Given the description of an element on the screen output the (x, y) to click on. 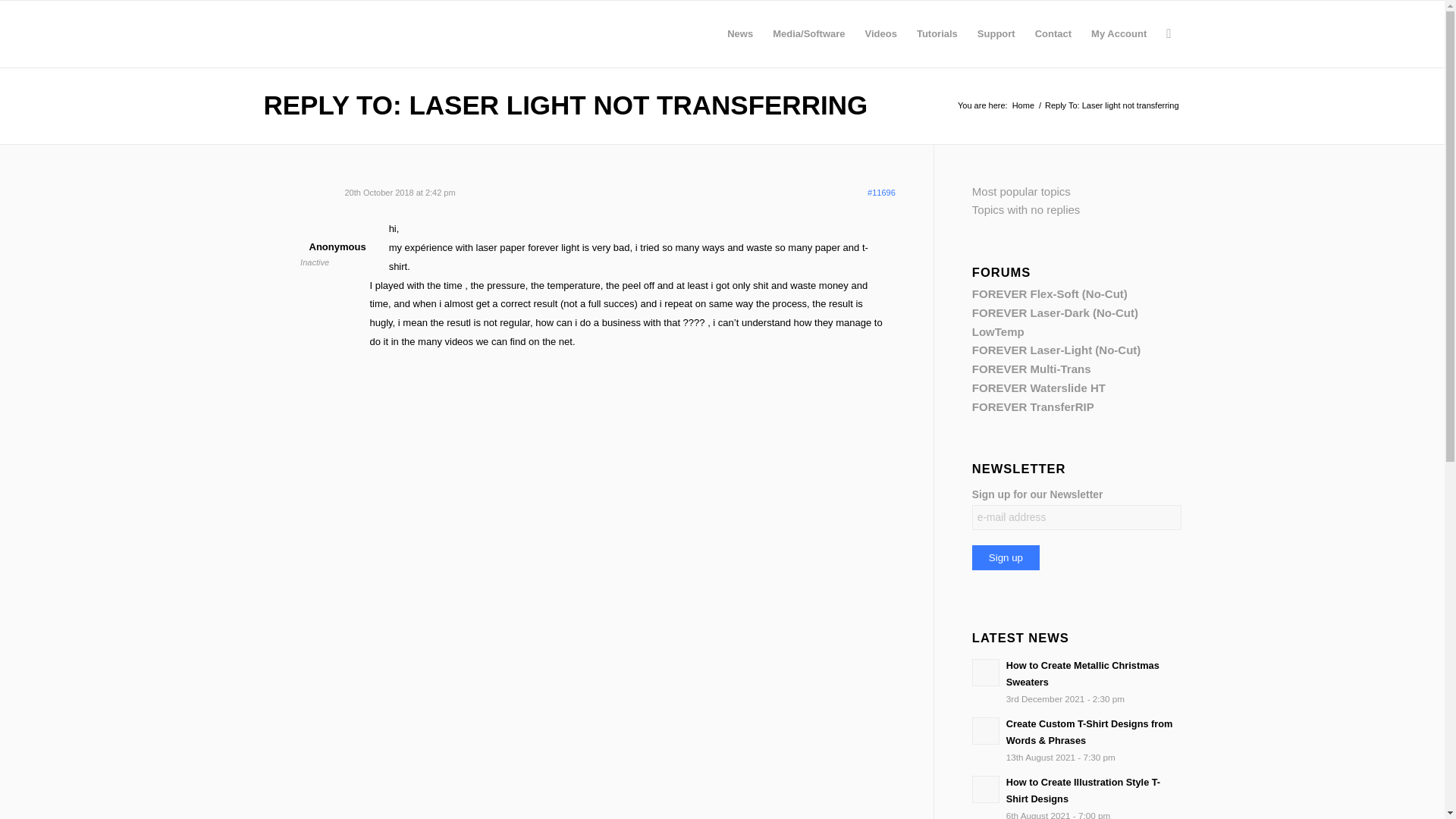
White Toner Transfer (1023, 105)
FOREVER Multi-Trans (1031, 368)
Most popular topics (1021, 191)
My Account (1118, 33)
Sign up (1005, 557)
REPLY TO: LASER LIGHT NOT TRANSFERRING (565, 104)
Permanent Link: Reply To: Laser light not transferring (565, 104)
Read: How to Create Illustration Style T-Shirt Designs (985, 789)
Read: How to Create Metallic Christmas Sweaters (1082, 673)
Read: How to Create Metallic Christmas Sweaters (985, 672)
Topics with no replies (1026, 209)
Sign up (1005, 557)
FOREVER TransferRIP (1033, 406)
FOREVER Waterslide HT (1038, 387)
Home (1023, 105)
